Given the description of an element on the screen output the (x, y) to click on. 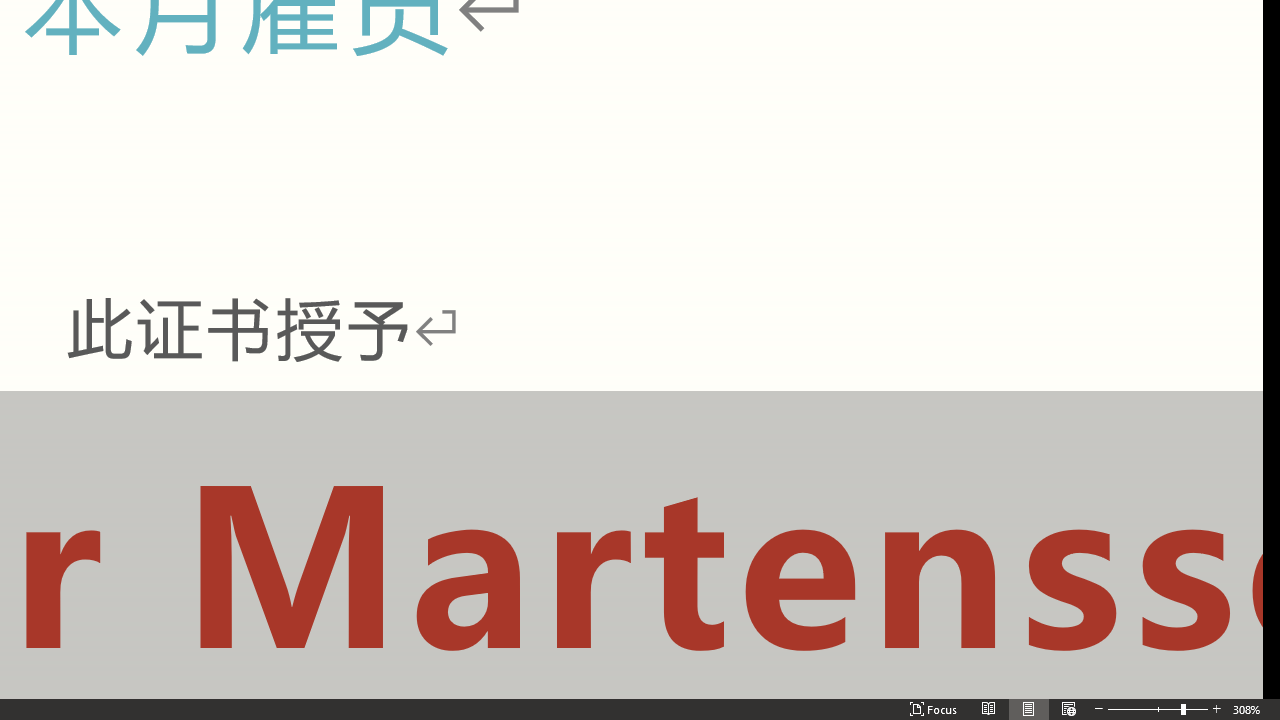
Column right (1254, 649)
Page down (1271, 314)
Page right (975, 649)
Line down (1271, 632)
Zoom 308% (1258, 668)
